Given the description of an element on the screen output the (x, y) to click on. 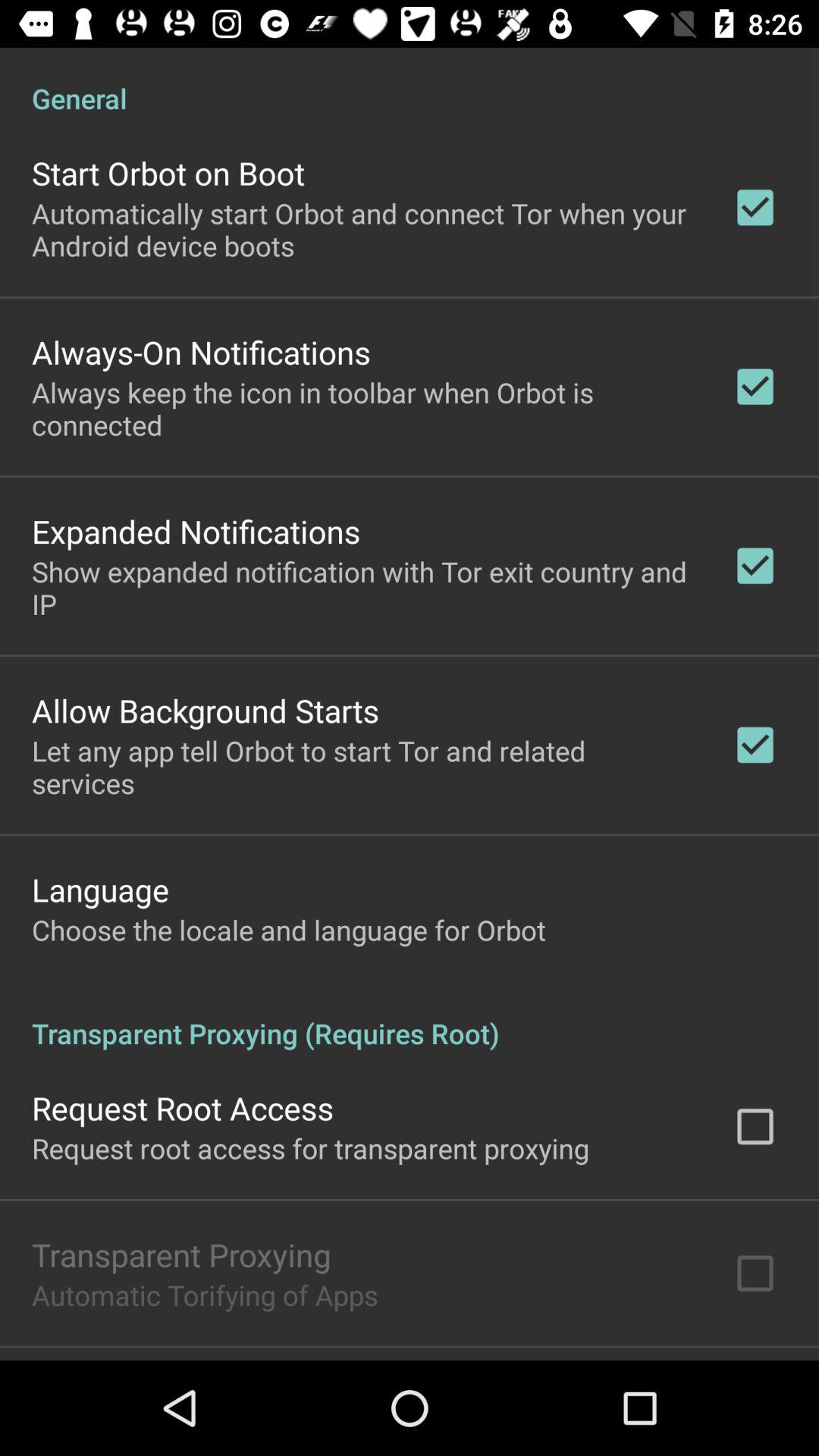
press show expanded notification (361, 587)
